Given the description of an element on the screen output the (x, y) to click on. 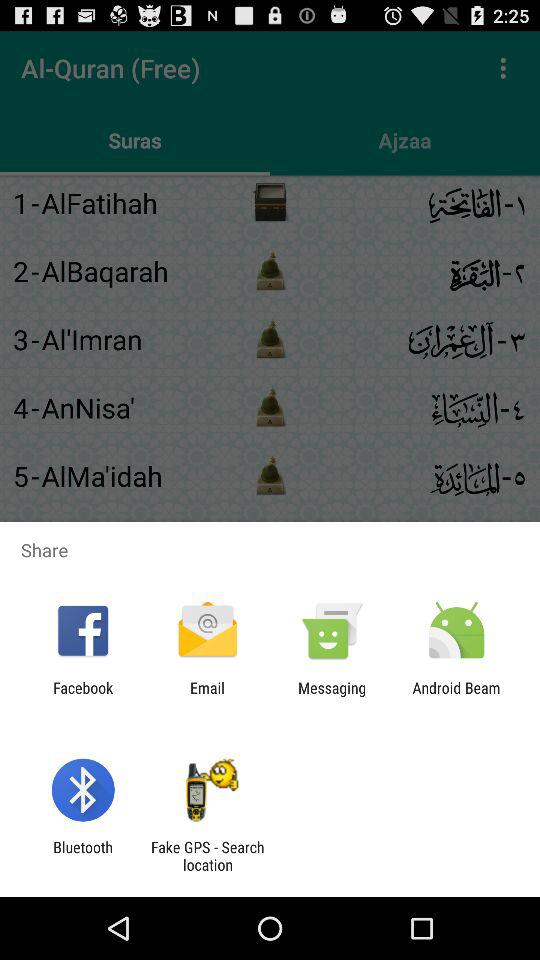
jump until fake gps search app (207, 856)
